Given the description of an element on the screen output the (x, y) to click on. 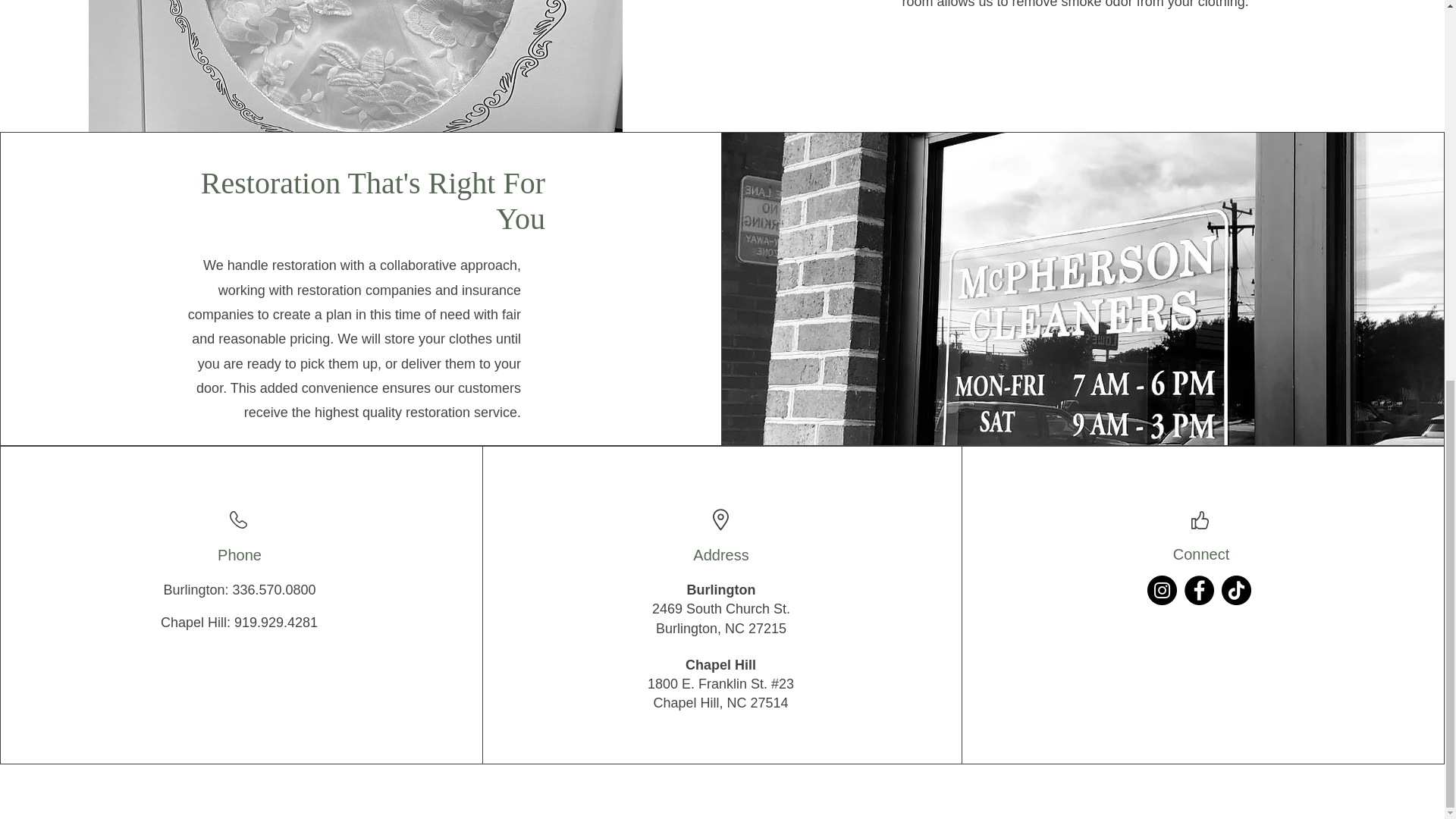
Burlington (721, 589)
